Given the description of an element on the screen output the (x, y) to click on. 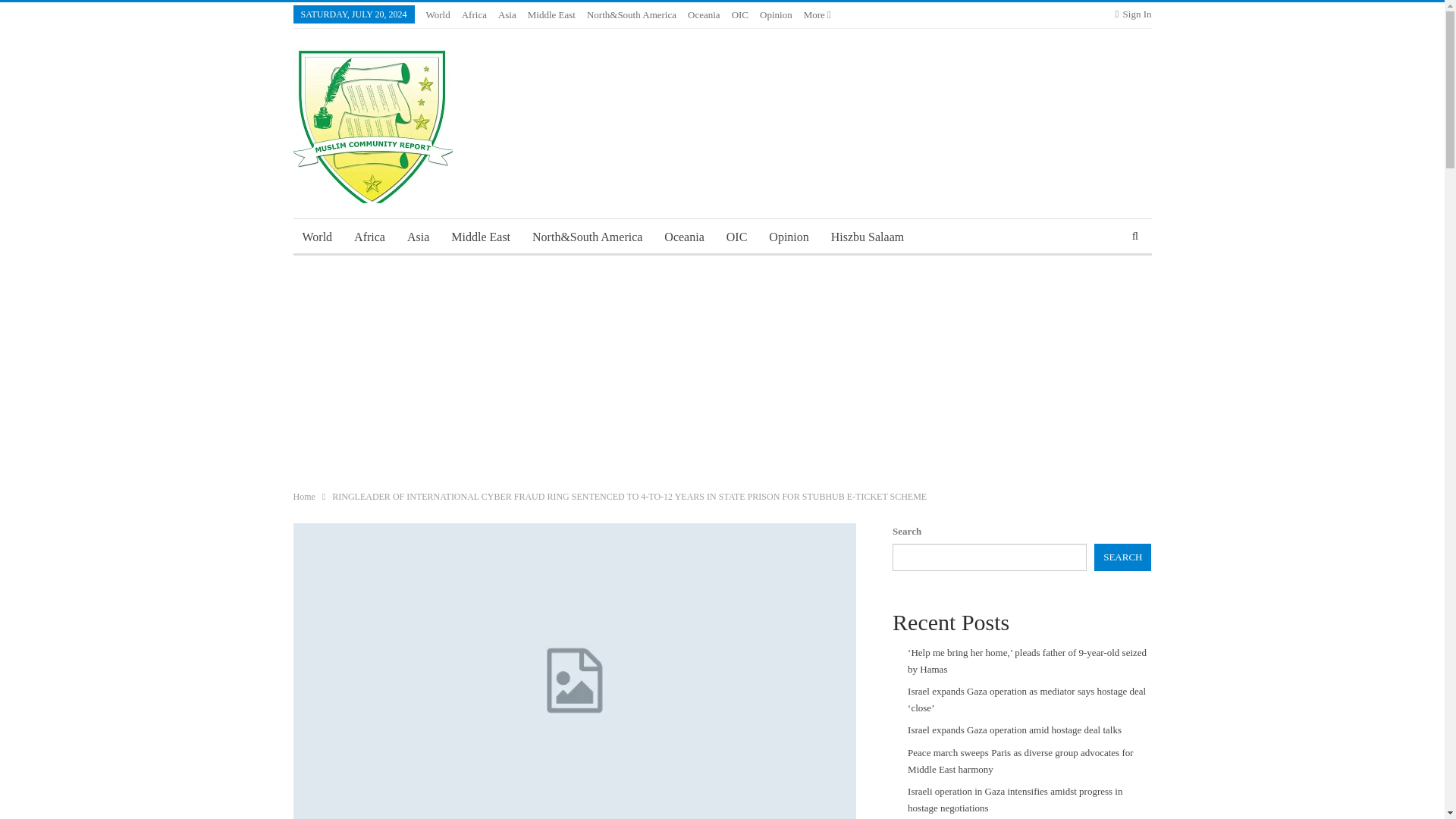
World (437, 14)
World (316, 237)
Africa (369, 237)
OIC (737, 237)
Oceania (684, 237)
Middle East (551, 14)
Middle East (480, 237)
Opinion (788, 237)
Asia (506, 14)
More (817, 14)
Oceania (703, 14)
Home (303, 496)
Hiszbu Salaam (867, 237)
Opinion (776, 14)
